Given the description of an element on the screen output the (x, y) to click on. 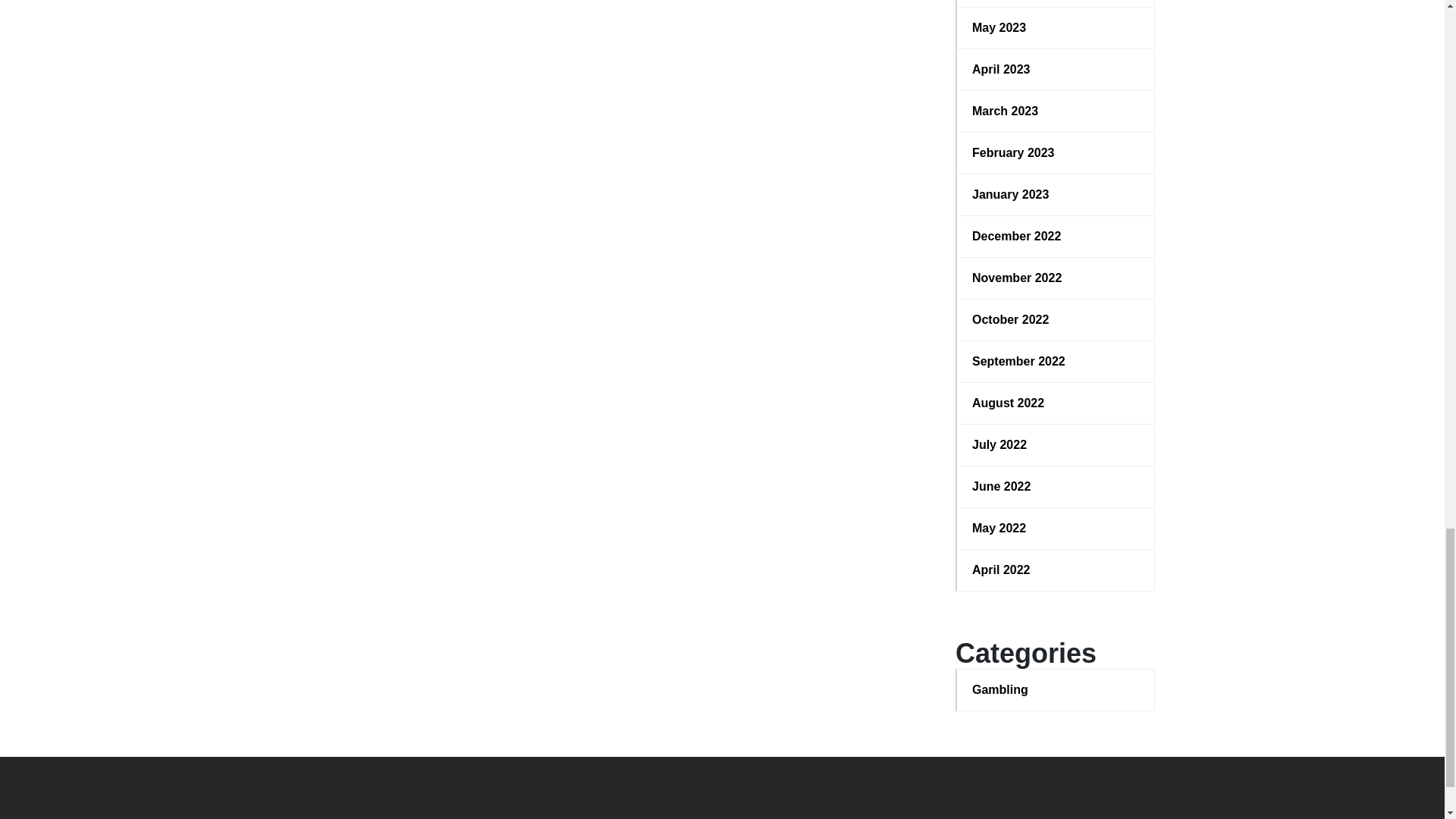
September 2022 (1055, 361)
March 2023 (1055, 111)
August 2022 (1055, 402)
May 2023 (1055, 27)
December 2022 (1055, 236)
October 2022 (1055, 320)
January 2023 (1055, 194)
November 2022 (1055, 278)
April 2023 (1055, 69)
February 2023 (1055, 153)
